Given the description of an element on the screen output the (x, y) to click on. 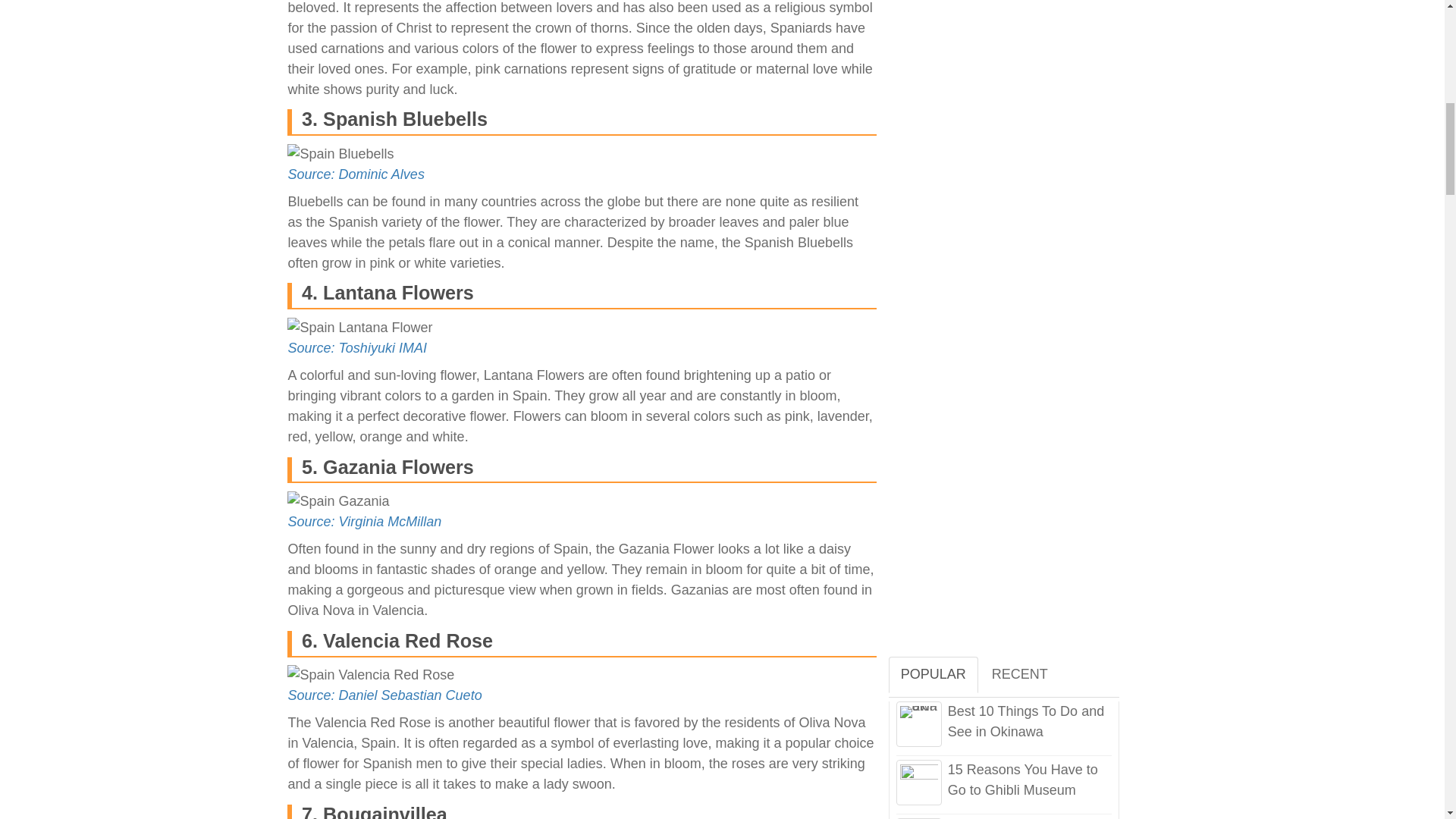
Source: Daniel Sebastian Cueto (383, 694)
Source: Virginia McMillan (363, 521)
Source: Dominic Alves (354, 174)
Source: Toshiyuki IMAI (356, 347)
